Given the description of an element on the screen output the (x, y) to click on. 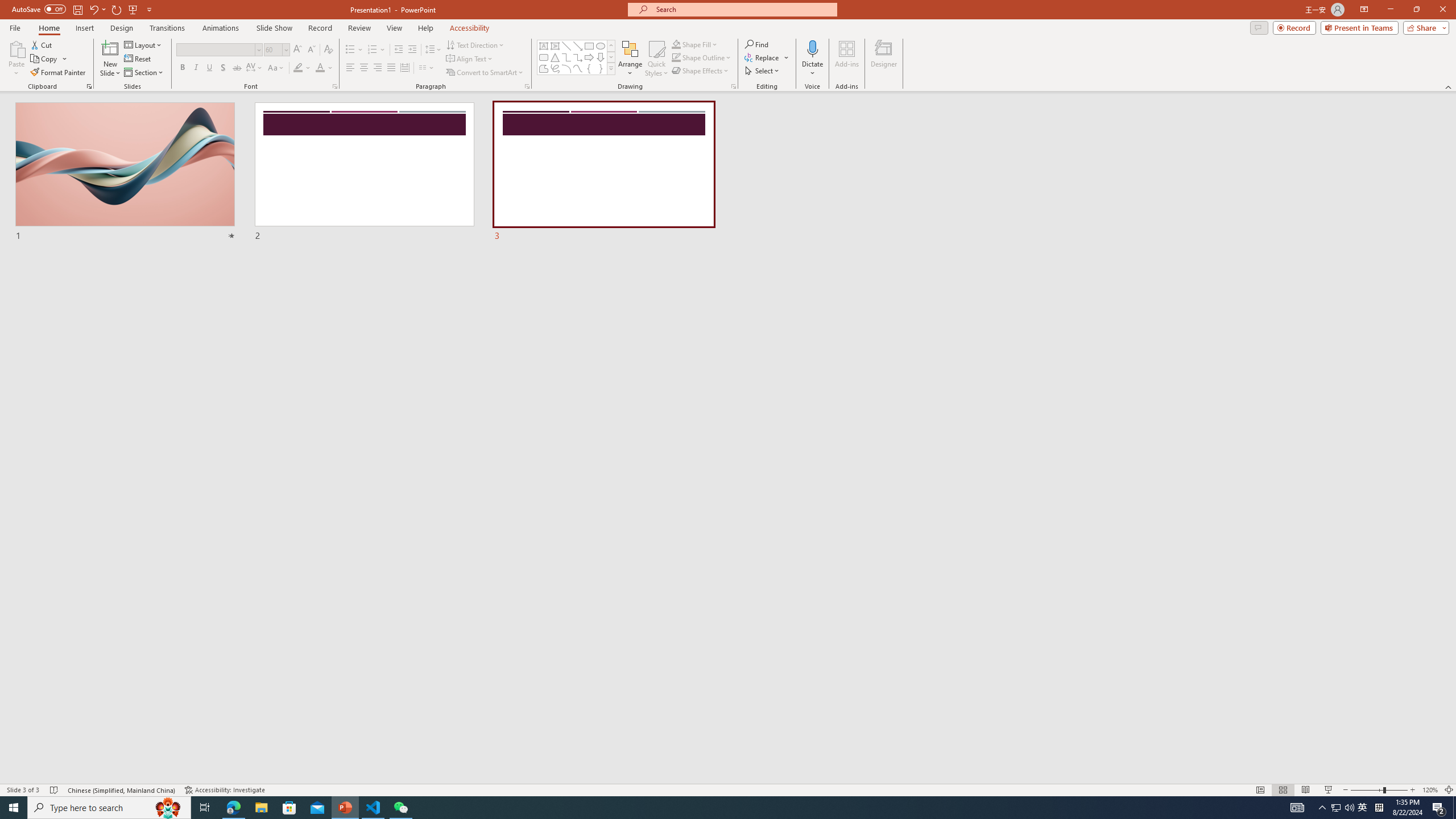
Shape Effects (700, 69)
Line Spacing (433, 49)
Increase Font Size (297, 49)
Justify (390, 67)
